Given the description of an element on the screen output the (x, y) to click on. 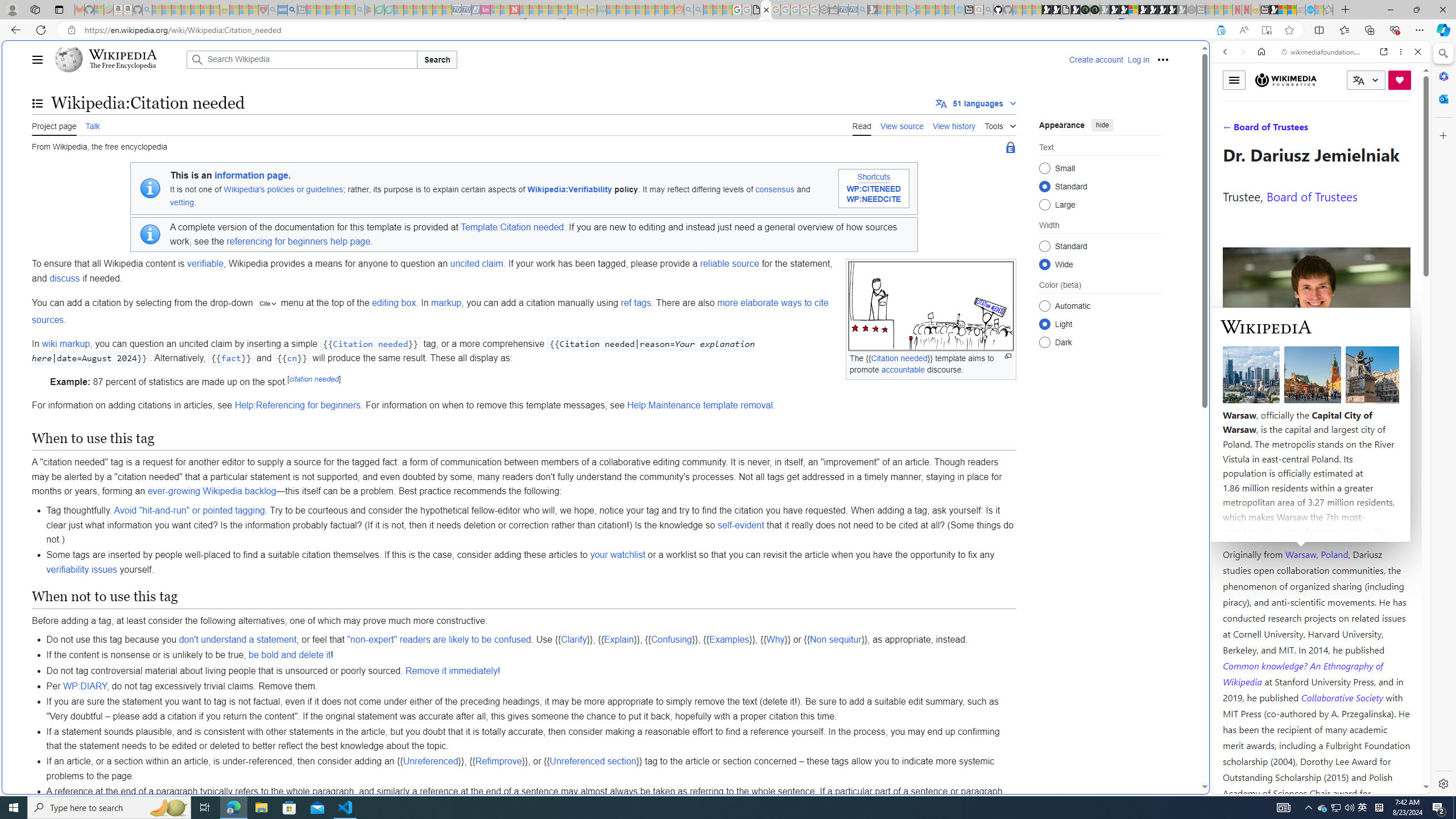
WP:NEEDCITE (873, 198)
Unreferenced (430, 761)
Non sequitur (835, 639)
Wikipedia The Free Encyclopedia (117, 59)
Avoid "hit-and-run" or pointed tagging (188, 510)
referencing for beginners help page (298, 241)
Project page (54, 124)
